Given the description of an element on the screen output the (x, y) to click on. 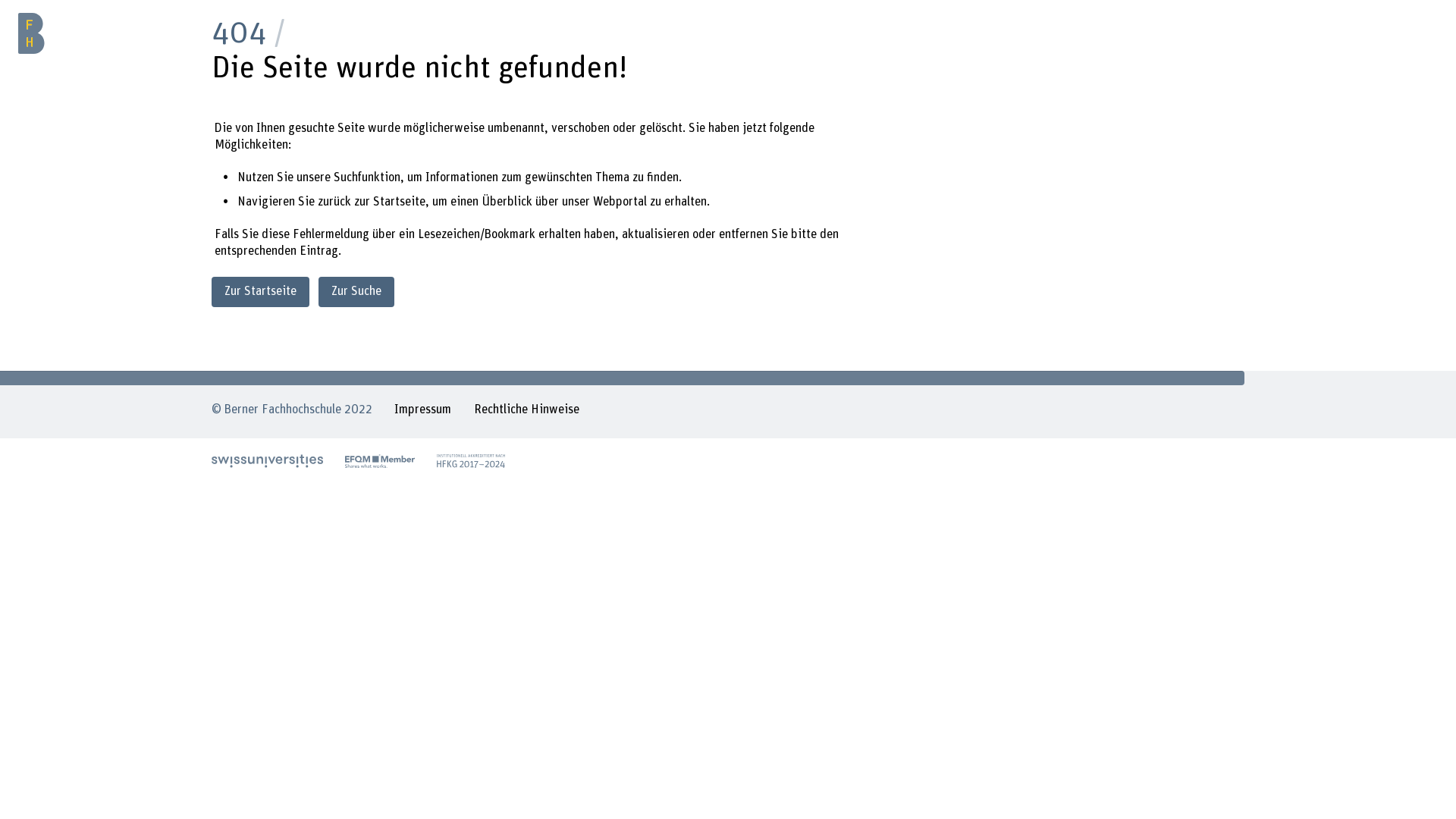
Akkreditierung Element type: hover (470, 460)
Impressum Element type: text (422, 411)
Zur Startseite Element type: text (260, 291)
Startseite Element type: text (399, 201)
EFQM Member Element type: hover (379, 460)
Rechtliche Hinweise Element type: text (525, 411)
Zur Suche Element type: text (356, 291)
swissuniversities Element type: hover (267, 460)
Suchfunktion Element type: text (366, 177)
